Given the description of an element on the screen output the (x, y) to click on. 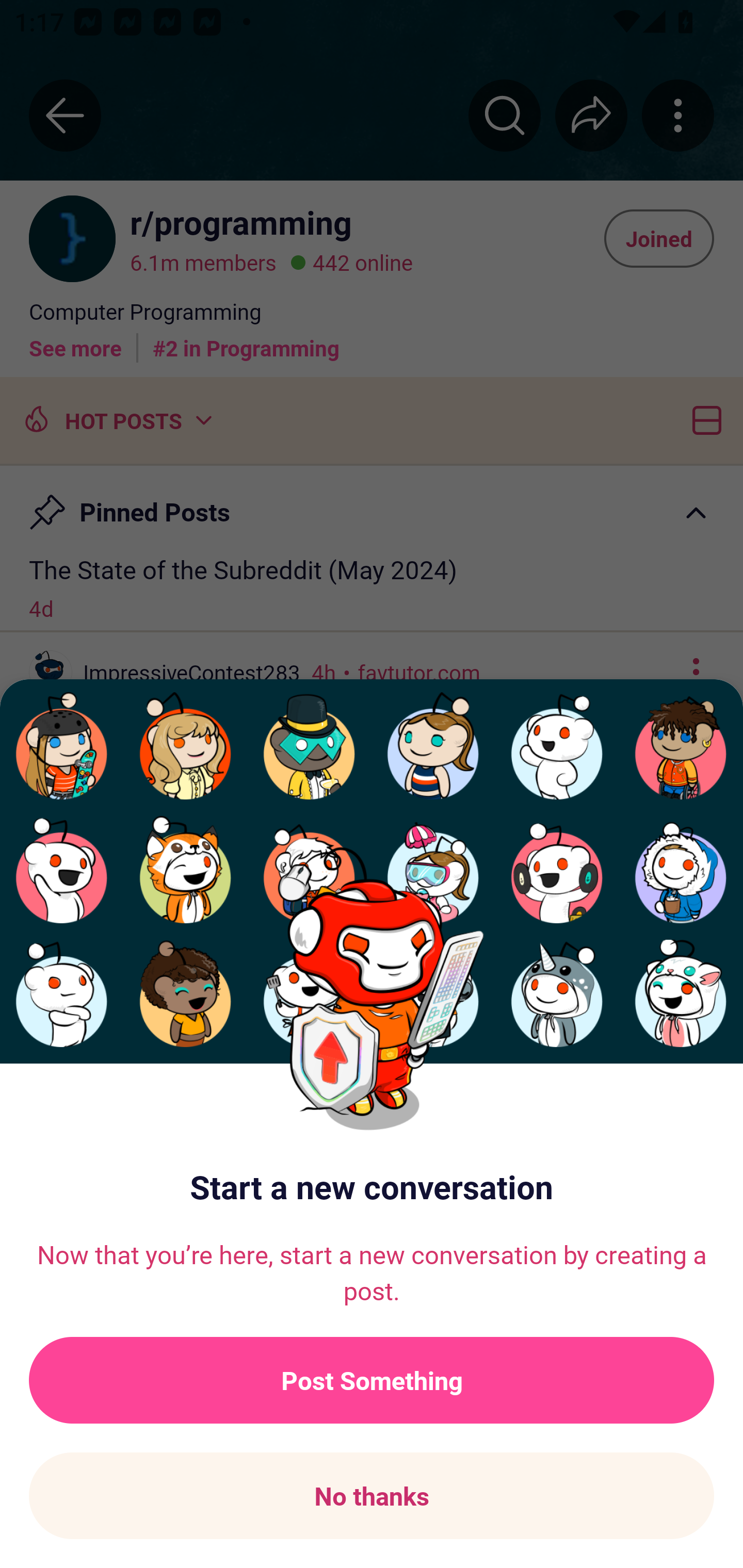
Post Something (371, 1380)
No thanks (371, 1495)
